Given the description of an element on the screen output the (x, y) to click on. 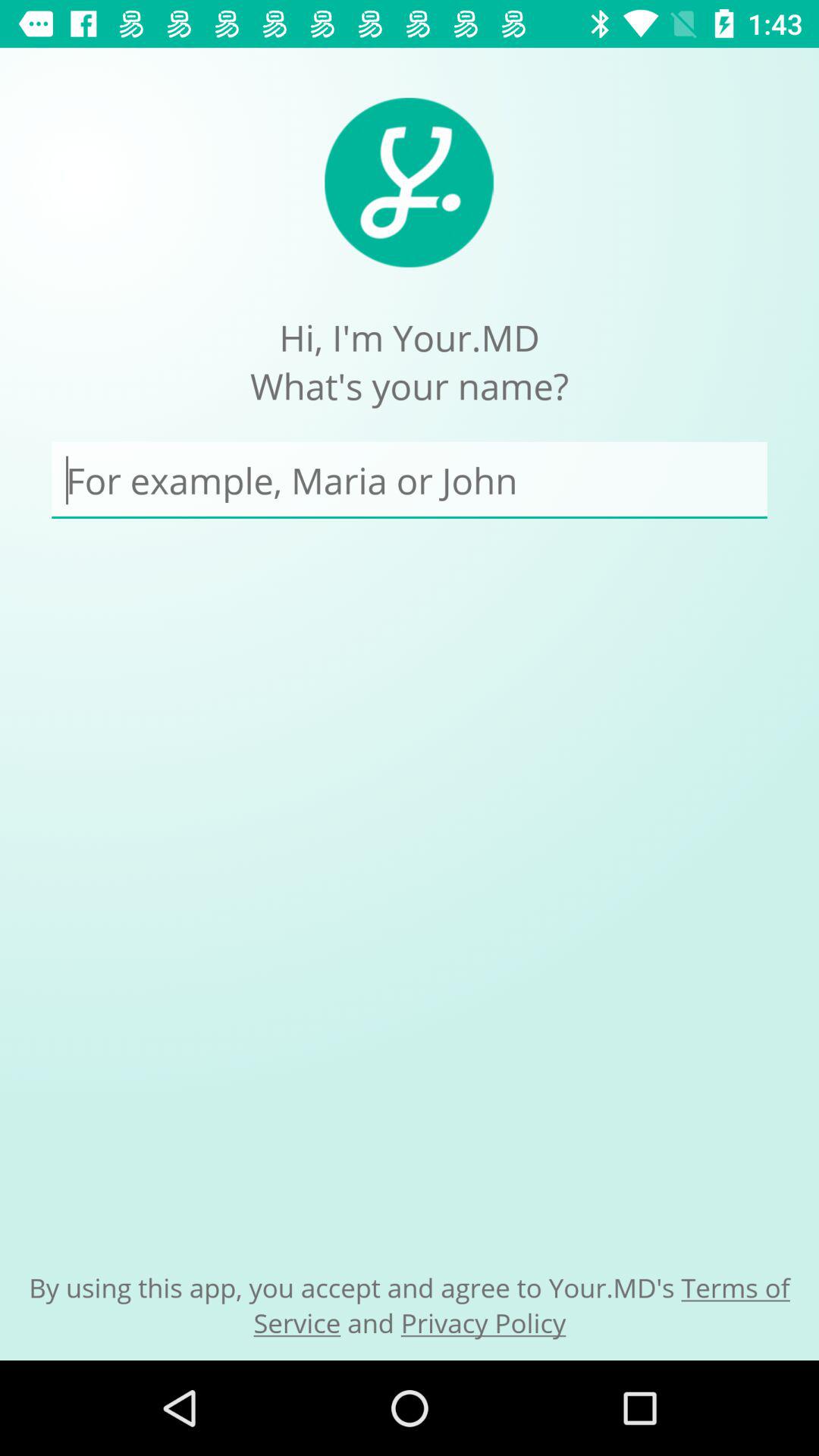
click by using this icon (409, 1305)
